Given the description of an element on the screen output the (x, y) to click on. 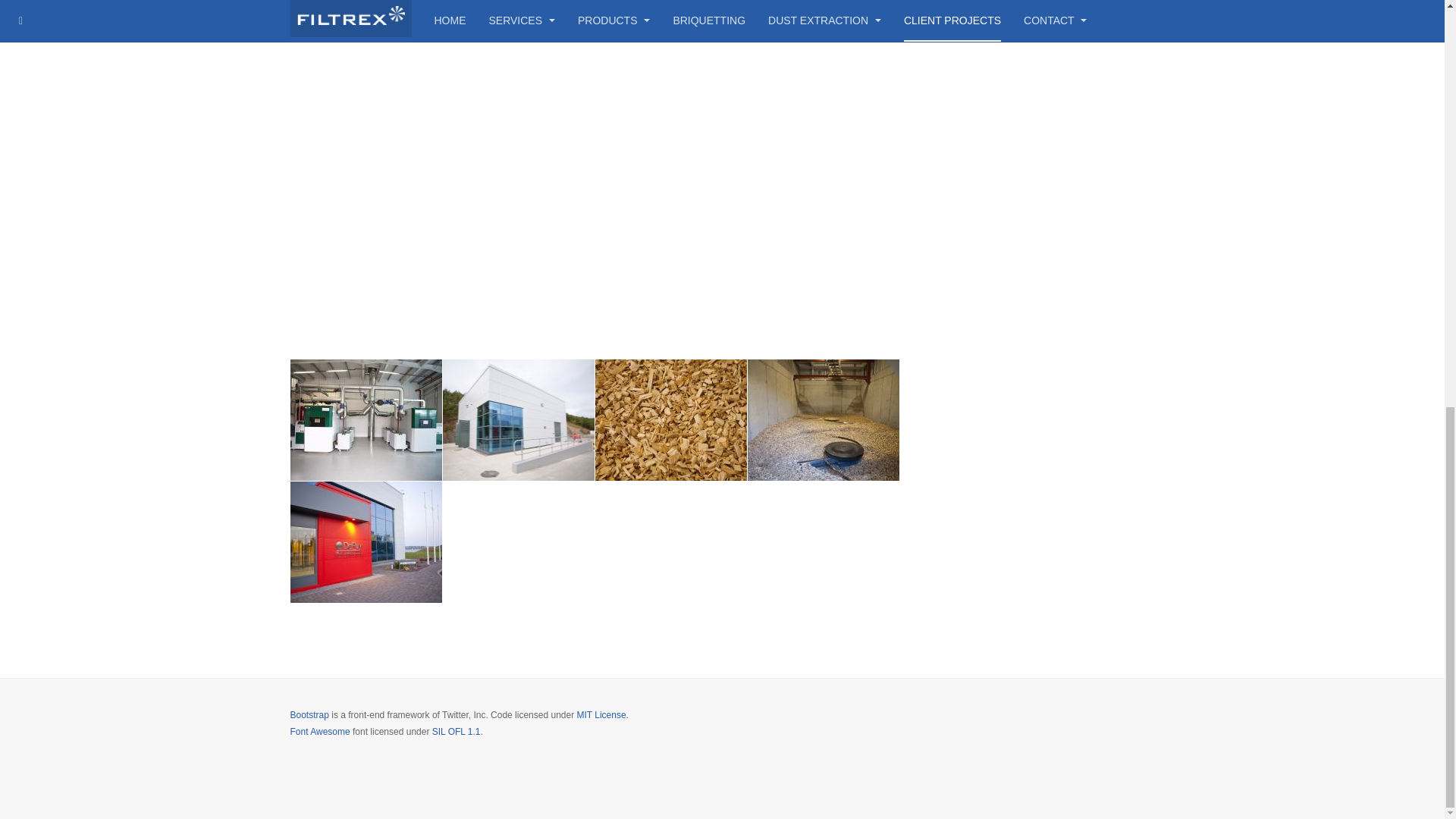
You are viewing the image with filename depuy2.jpg (518, 419)
MIT License (601, 715)
You are viewing the image with filename depuy3.jpg (669, 419)
Bootstrap by Twitter (309, 715)
You are viewing the image with filename depuy5.jpg (365, 541)
You are viewing the image with filename depuy4.jpg (823, 419)
You are viewing the image with filename depuy1.jpg (365, 419)
